Given the description of an element on the screen output the (x, y) to click on. 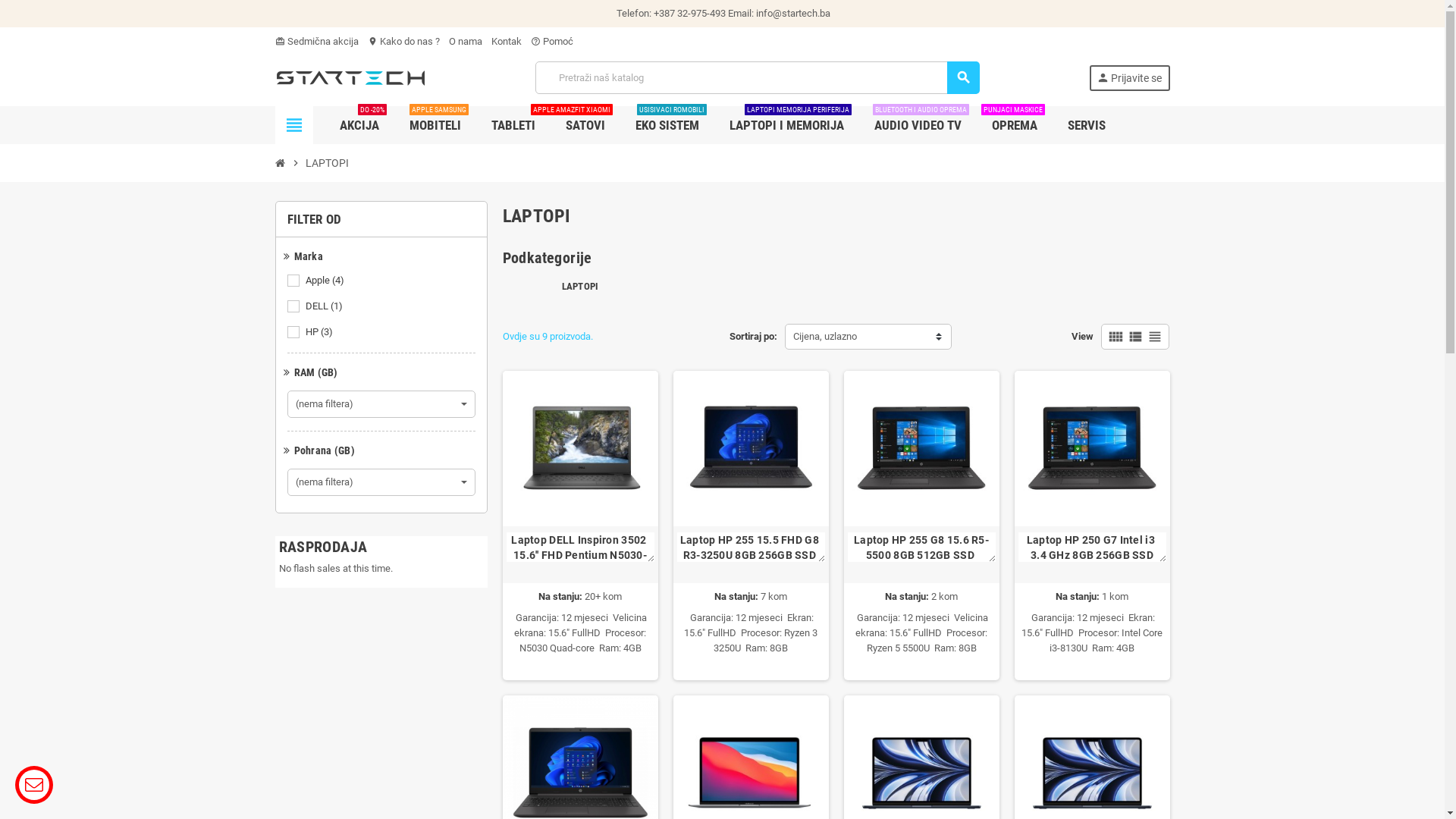
DELL
(1) Element type: text (324, 305)
TABLETI Element type: text (512, 125)
person
Prijavite se Element type: text (1129, 77)
Laptop HP 255 15.5 FHD G8 R3-3250U 8GB 256GB SSD DOS Element type: text (750, 546)
AUDIO VIDEO TV
BLUETOOTH I AUDIO OPREMA Element type: text (917, 125)
Apple
(4) Element type: text (324, 280)
view_list Element type: text (1134, 336)
OPREMA
PUNJACI MASKICE Element type: text (1013, 125)
Laptop HP 255 15.5 FHD G8 R3-3250U 8GB 256GB SSD DOS Element type: hover (750, 448)
view_headline Element type: text (1154, 336)
O nama Element type: text (465, 41)
Laptop HP 250 G7 Intel i3 3.4 GHz 8GB 256GB SSD Element type: text (1091, 546)
Cijena, uzlazno Element type: text (867, 336)
location_on Kako do nas ? Element type: text (403, 41)
WhatsApp Element type: text (151, 785)
Startech d.o.o - Veleprodaja mobitela, Element type: hover (350, 76)
LAPTOPI Element type: text (580, 285)
SERVIS Element type: text (1085, 125)
search Element type: text (963, 77)
Kontak Element type: text (506, 41)
Laptop HP 255 G8 15.6 R5-5500 8GB 512GB SSD Win10Pro ITA Element type: text (921, 546)
AKCIJA
DO -20% Element type: text (358, 125)
MOBITELI
APPLE SAMSUNG Element type: text (434, 125)
EKO SISTEM
USISIVACI ROMOBILI Element type: text (666, 125)
Laptop HP 250 G7 Intel i3 3.4 GHz 8GB 256GB SSD Element type: hover (1092, 448)
Laptop HP 255 G8 15.6 R5-5500 8GB 512GB SSD Win10Pro ITA Element type: hover (920, 448)
HP
(3) Element type: text (319, 331)
view_comfy Element type: text (1115, 336)
SATOVI
APPLE AMAZFIT XIAOMI Element type: text (584, 125)
